Given the description of an element on the screen output the (x, y) to click on. 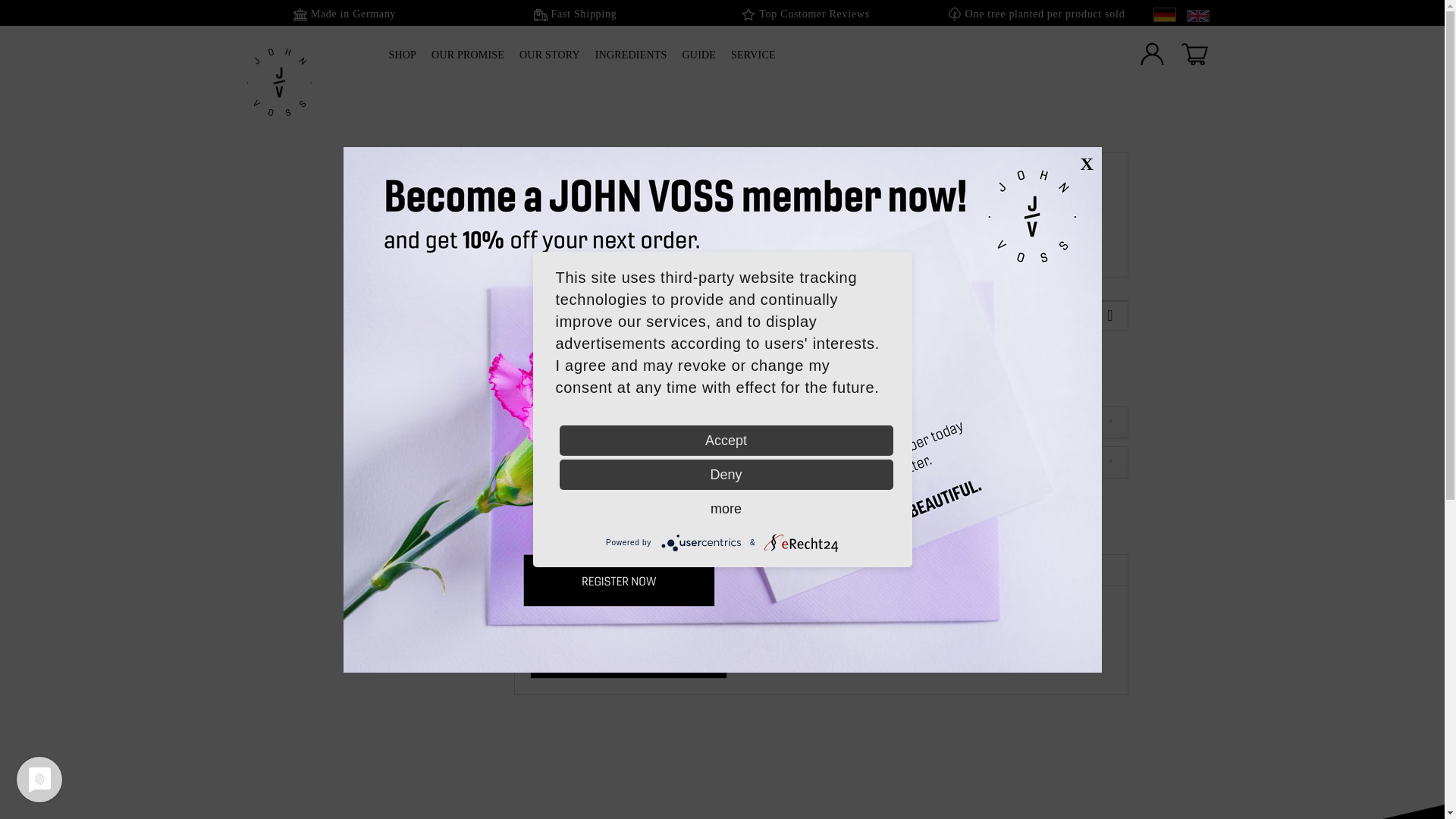
Ingredients (630, 60)
OUR STORY (549, 60)
OUR PROMISE (466, 60)
Account (1152, 55)
Our Story (549, 60)
INGREDIENTS (630, 60)
Service (753, 60)
Our Promise (466, 60)
